Given the description of an element on the screen output the (x, y) to click on. 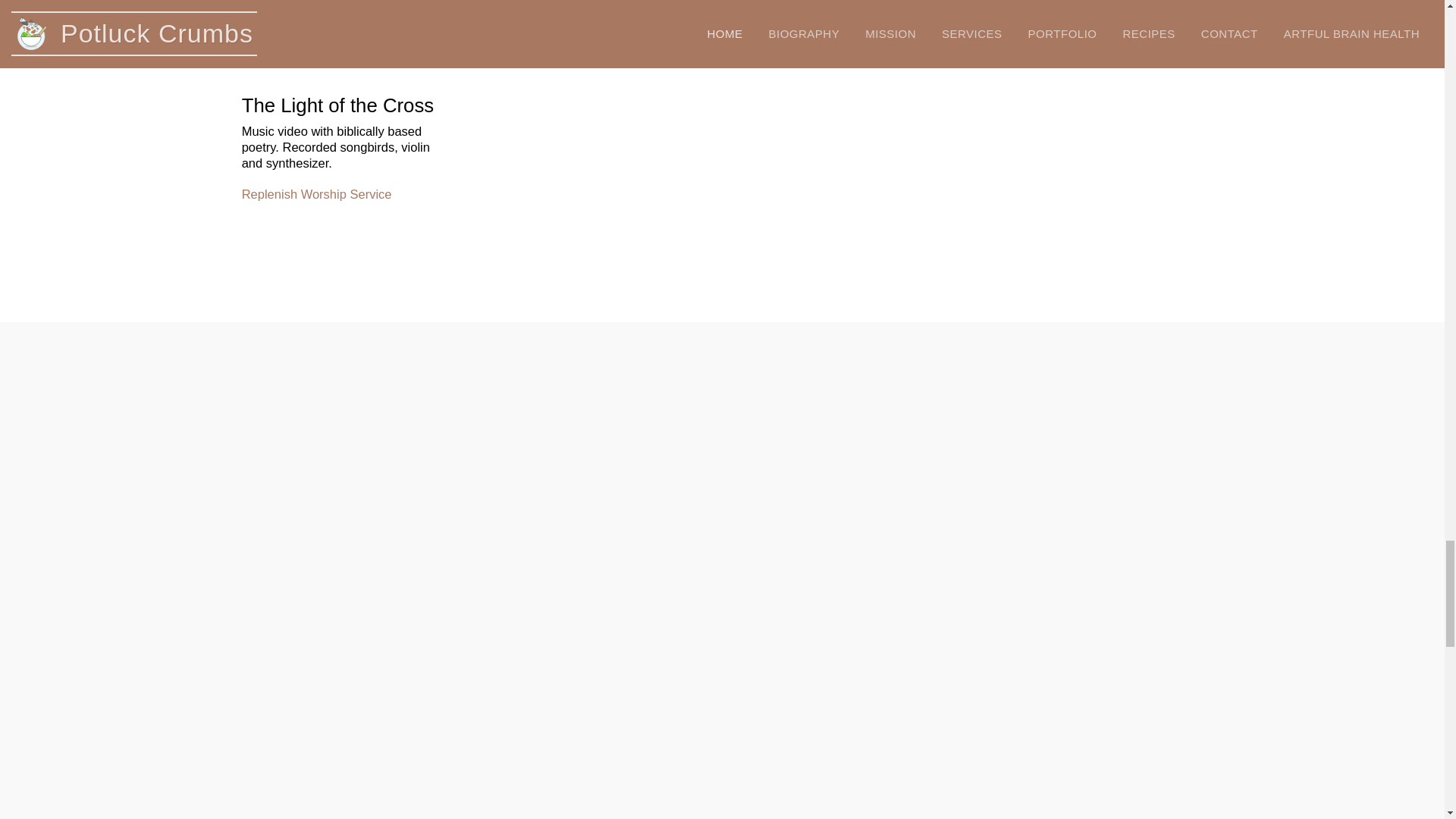
Replenish Worship Service (316, 193)
The Light of the Cross (347, 36)
